Given the description of an element on the screen output the (x, y) to click on. 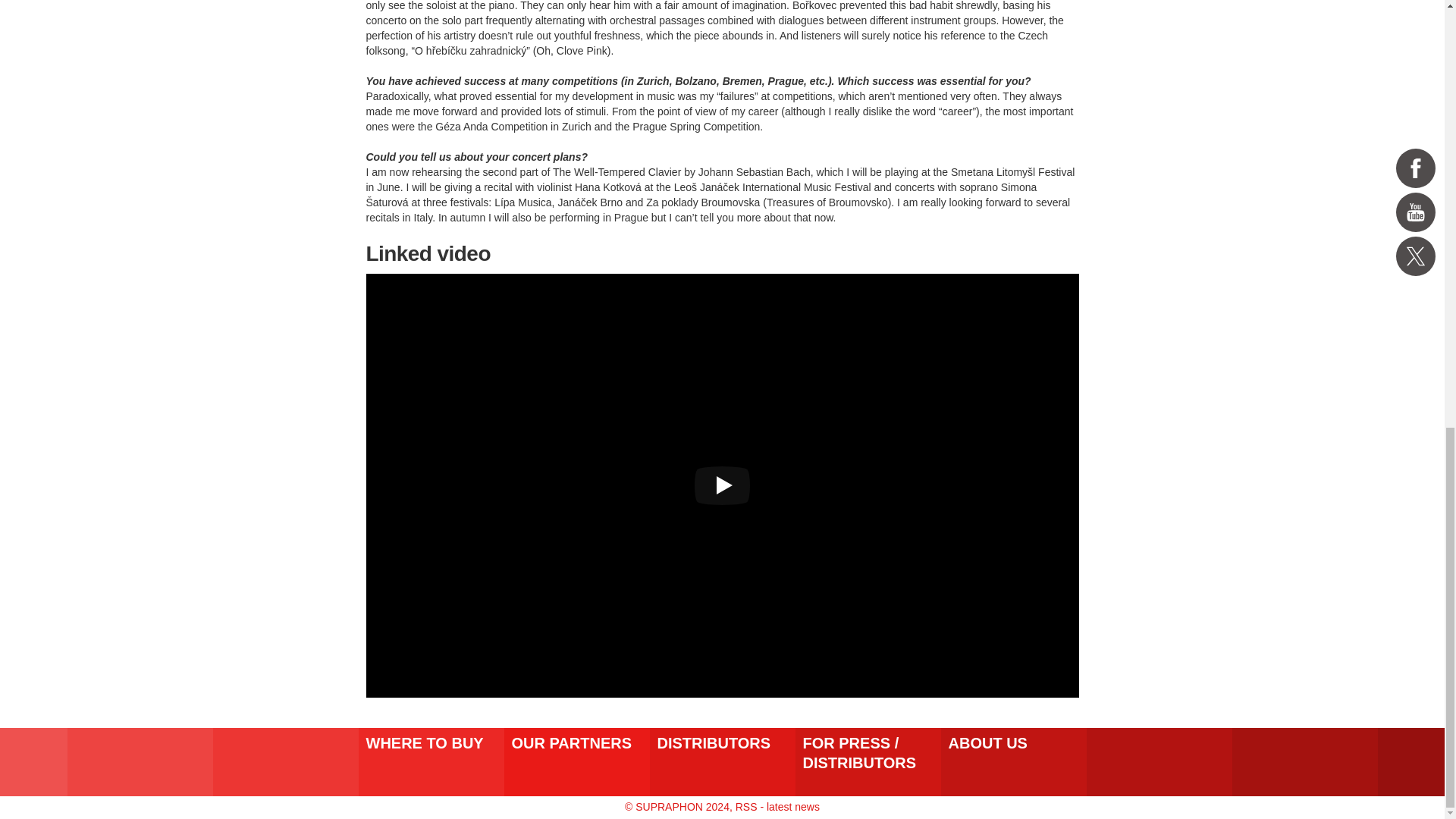
RSS - latest news (777, 806)
ABOUT US (1013, 762)
WHERE TO BUY (430, 762)
DISTRIBUTORS (721, 762)
OUR PARTNERS (576, 762)
